Given the description of an element on the screen output the (x, y) to click on. 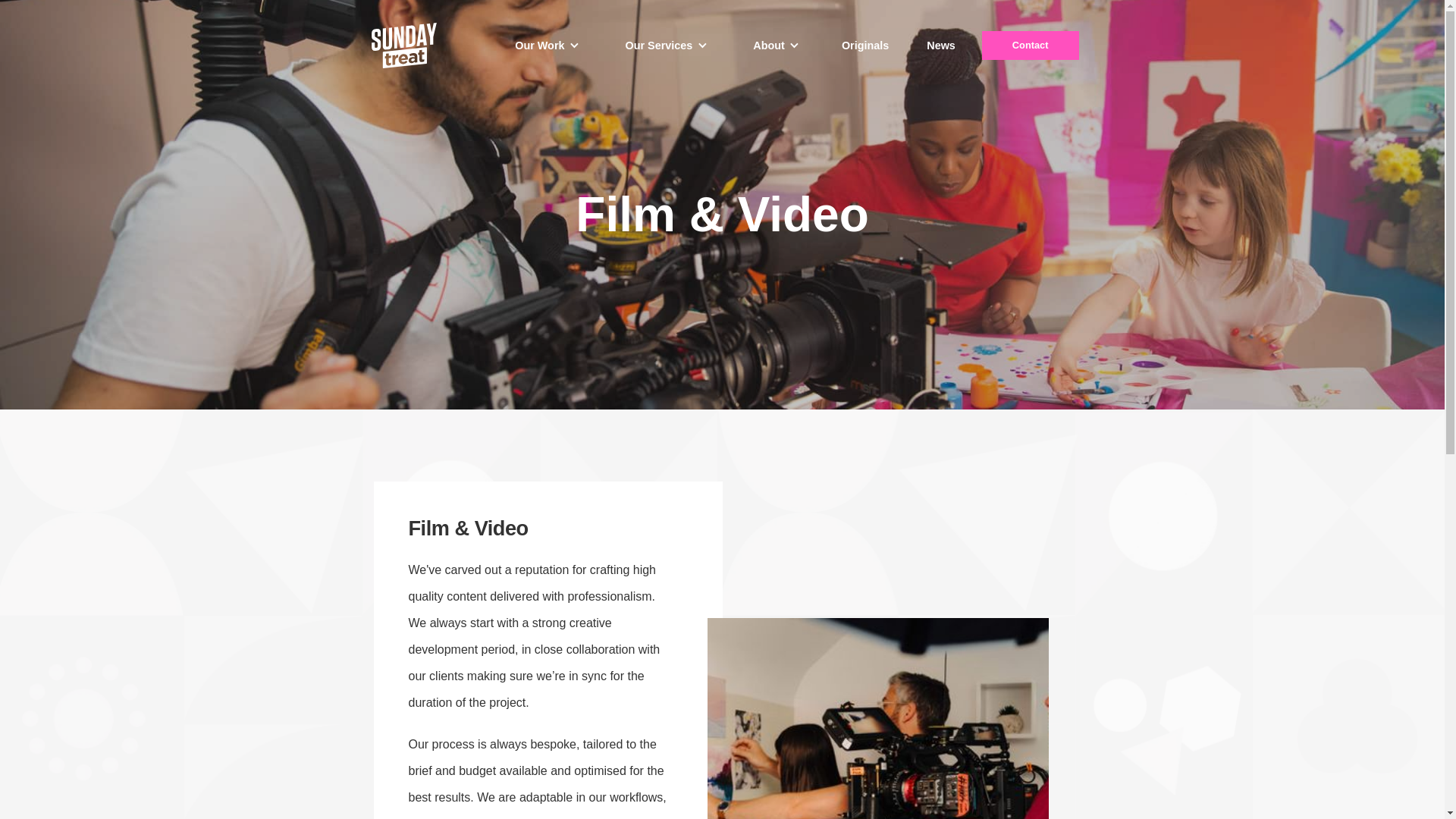
About (768, 45)
News (940, 44)
Contact (1029, 45)
Originals (864, 44)
Our Work (539, 45)
Our Services (659, 45)
